Given the description of an element on the screen output the (x, y) to click on. 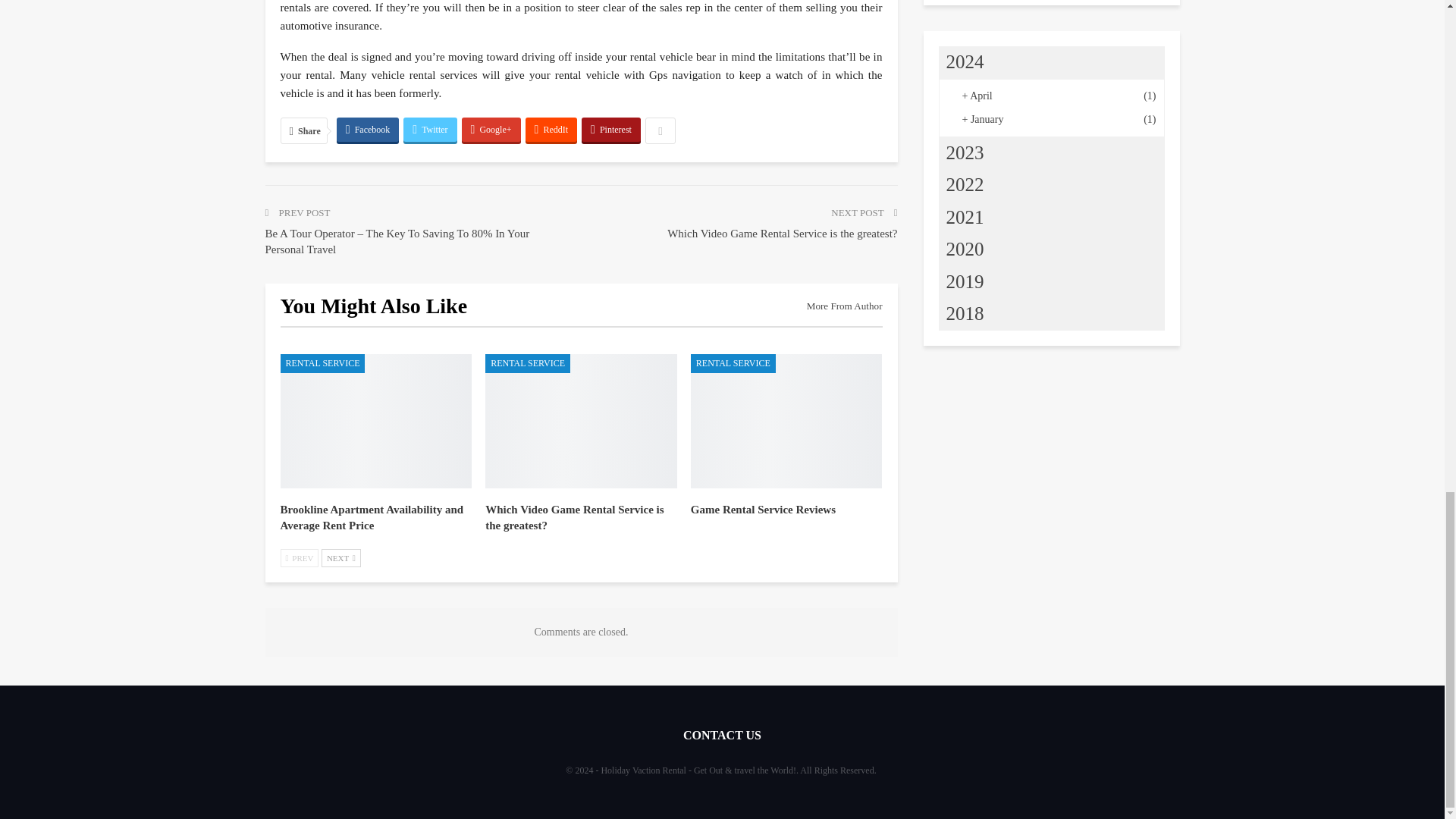
Brookline Apartment Availability and Average Rent Price (372, 517)
Twitter (430, 129)
Previous (299, 557)
Brookline Apartment Availability and Average Rent Price (376, 420)
Next (341, 557)
Which Video Game Rental Service is the greatest? (580, 420)
ReddIt (551, 129)
Which Video Game Rental Service is the greatest? (573, 517)
Game Rental Service Reviews (762, 509)
Game Rental Service Reviews (786, 420)
Facebook (367, 129)
